Given the description of an element on the screen output the (x, y) to click on. 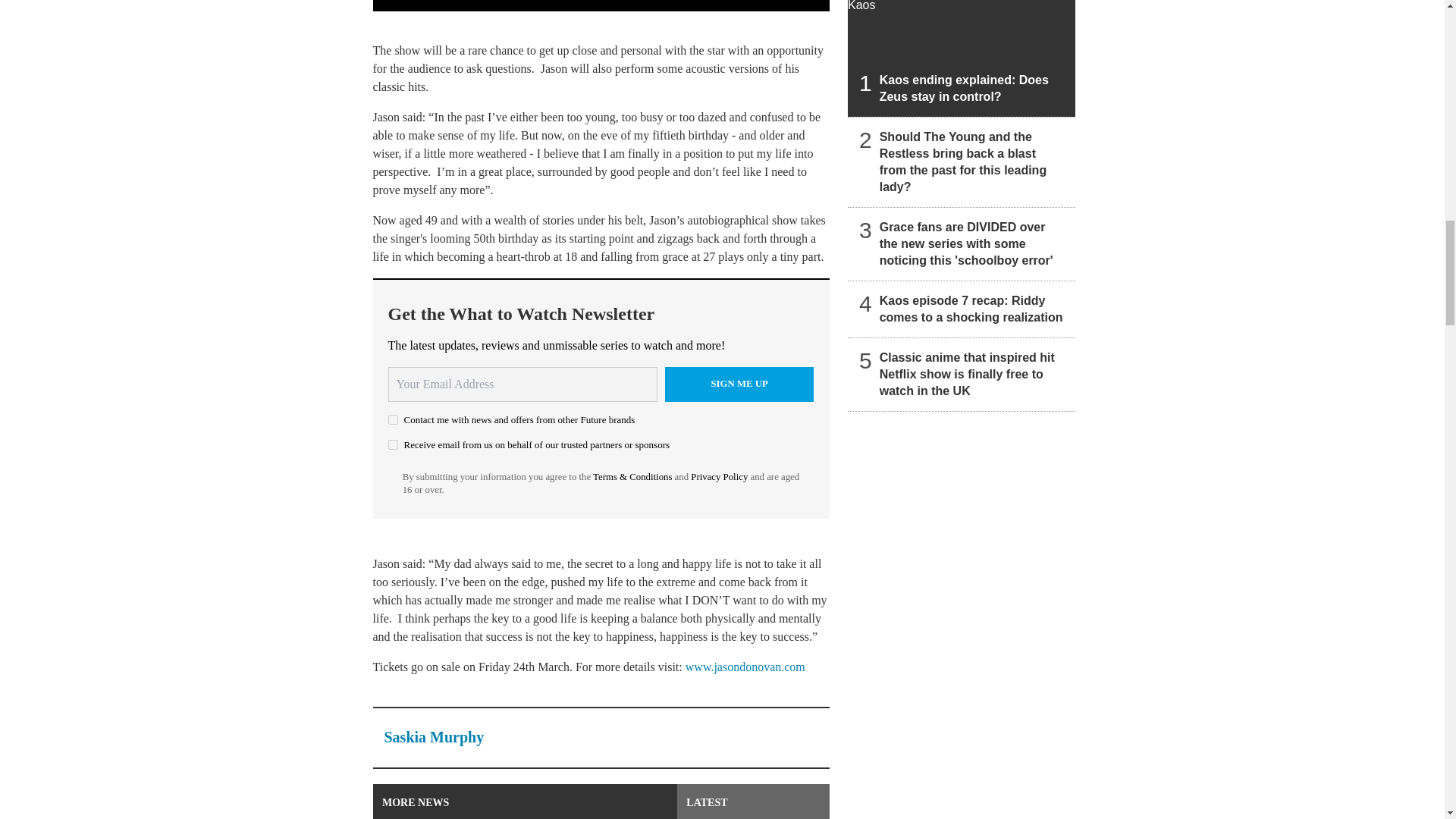
Sign me up (739, 384)
on (392, 444)
on (392, 419)
Kaos ending explained: Does Zeus stay in control? (961, 58)
